Given the description of an element on the screen output the (x, y) to click on. 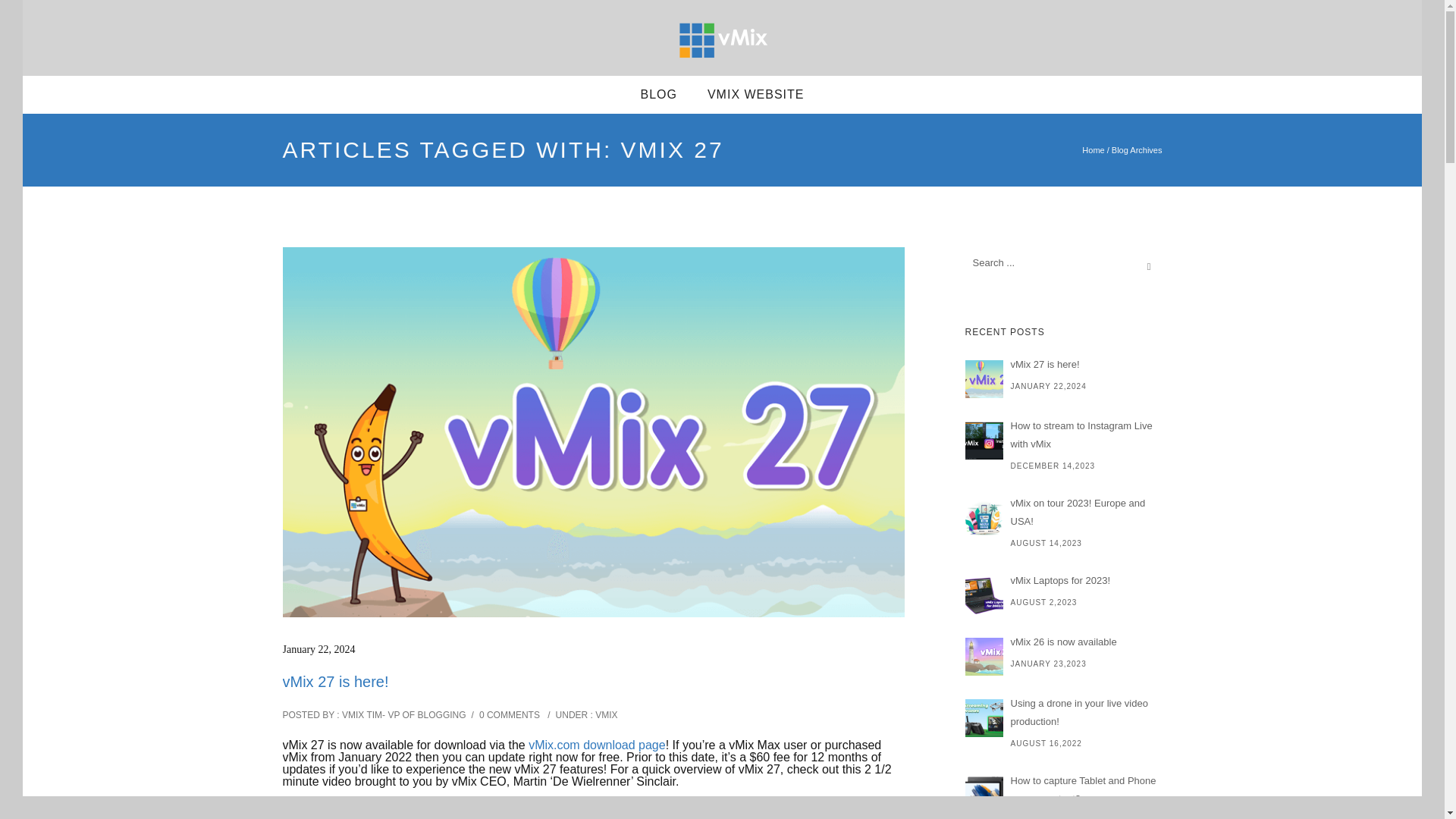
vMix.com download page (596, 744)
vMix 27 is here! (1062, 364)
January 22, 2024 (318, 649)
BLOG (657, 94)
vMix 27 Feature Overview (593, 814)
How to stream to Instagram Live with vMix (1062, 434)
vMix 26 is now available (1062, 642)
Home (1092, 149)
VMIX (604, 715)
Using a drone in your live video production! (1062, 712)
